Given the description of an element on the screen output the (x, y) to click on. 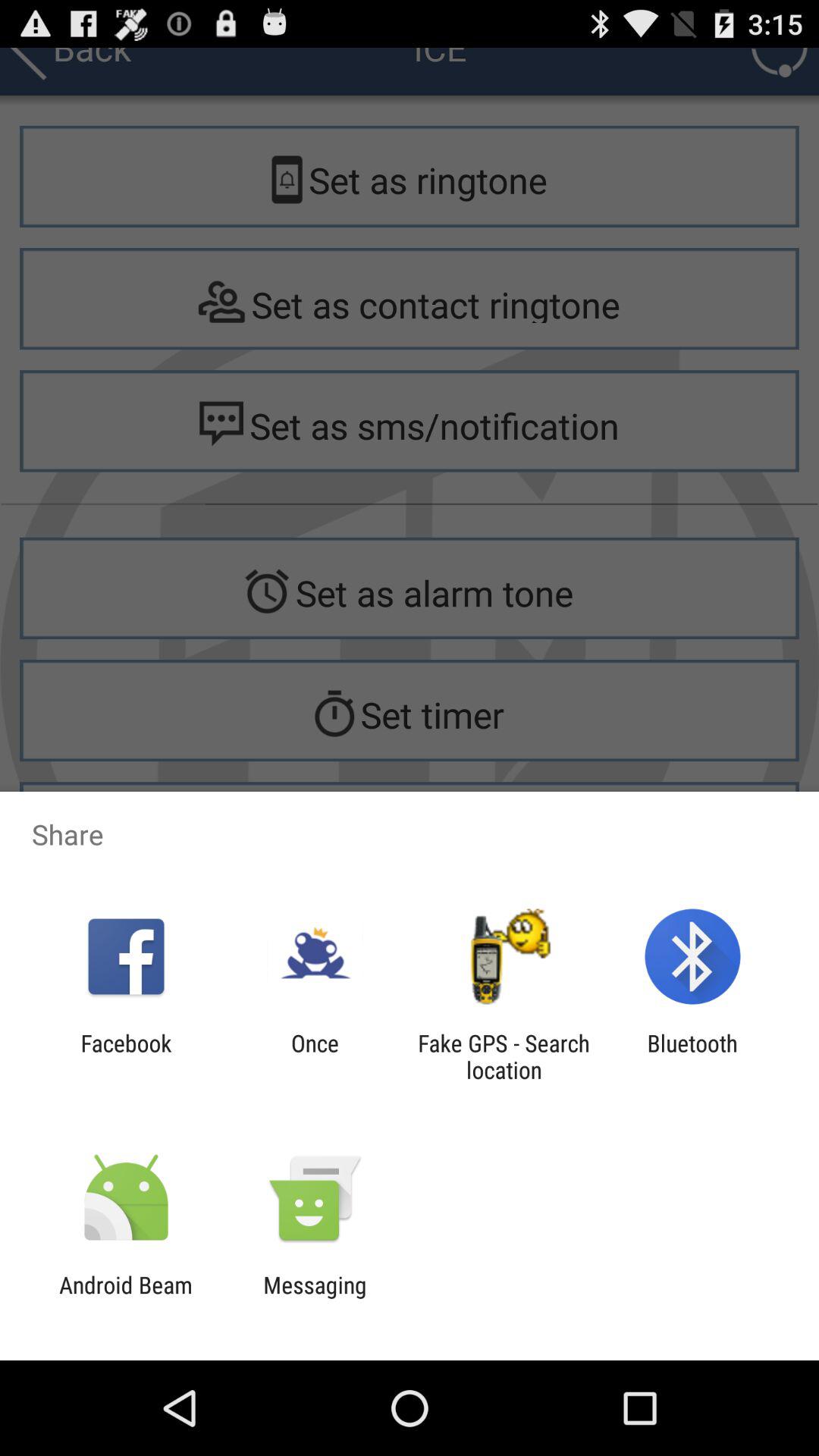
scroll to once (314, 1056)
